Given the description of an element on the screen output the (x, y) to click on. 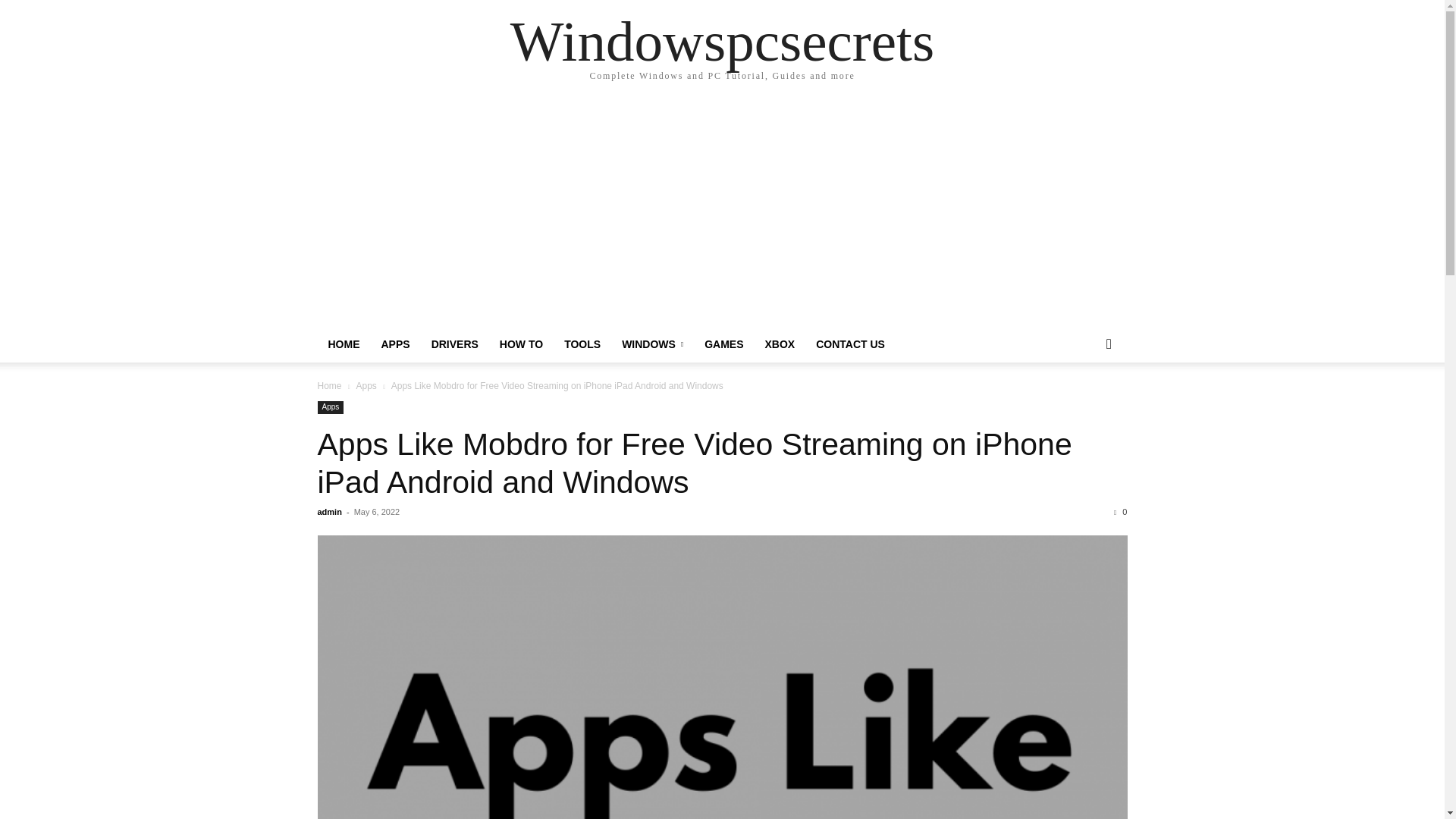
Search (1085, 404)
CONTACT US (850, 344)
Windowspcsecrets (722, 41)
APPS (394, 344)
0 (1119, 511)
XBOX (780, 344)
HOW TO (521, 344)
GAMES (724, 344)
View all posts in Apps (365, 385)
